Given the description of an element on the screen output the (x, y) to click on. 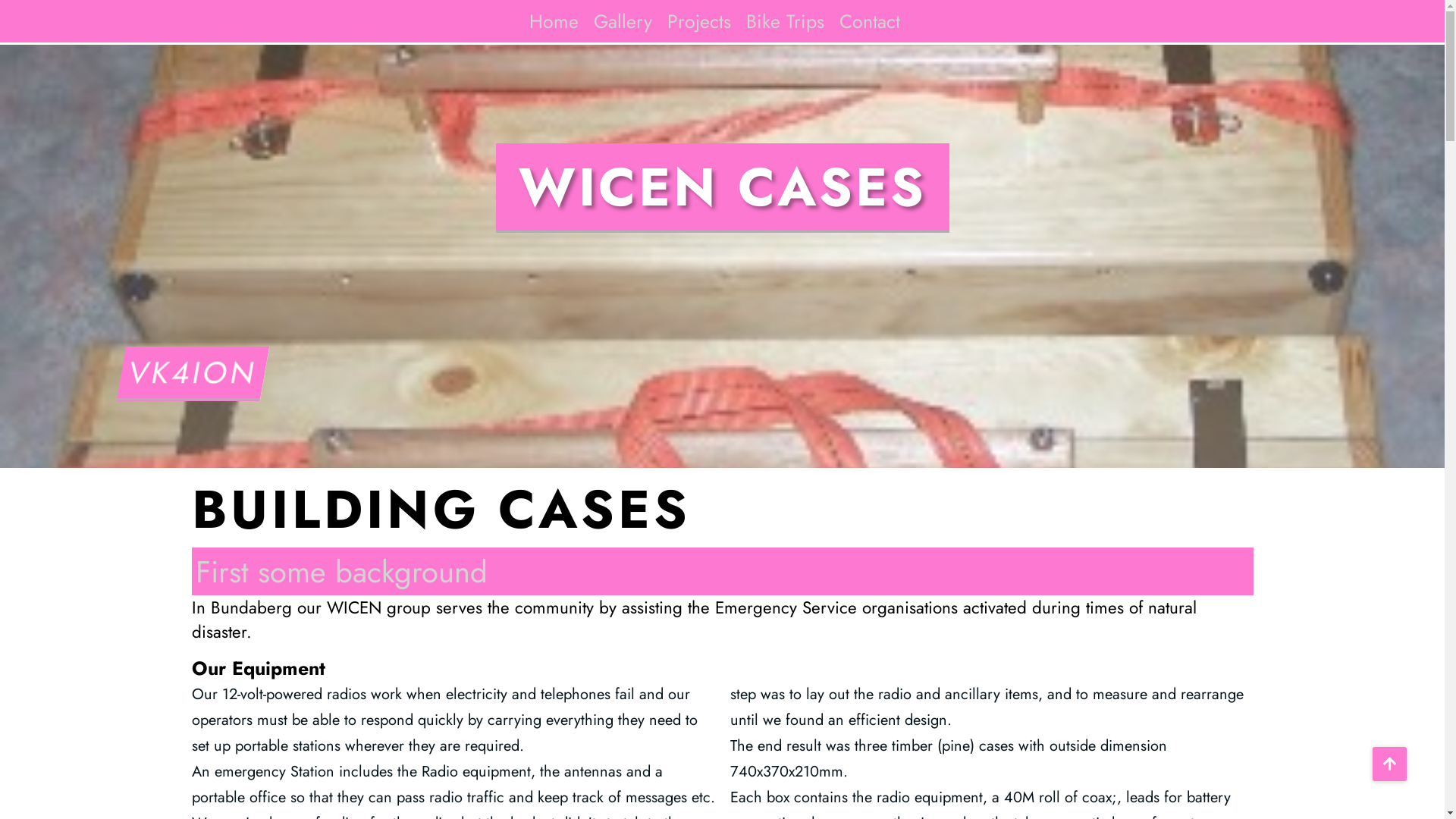
Projects Element type: text (699, 20)
link Element type: hover (1389, 763)
Gallery Element type: text (622, 20)
Home Element type: text (553, 20)
Bike Trips Element type: text (785, 20)
Contact Element type: text (869, 20)
